Given the description of an element on the screen output the (x, y) to click on. 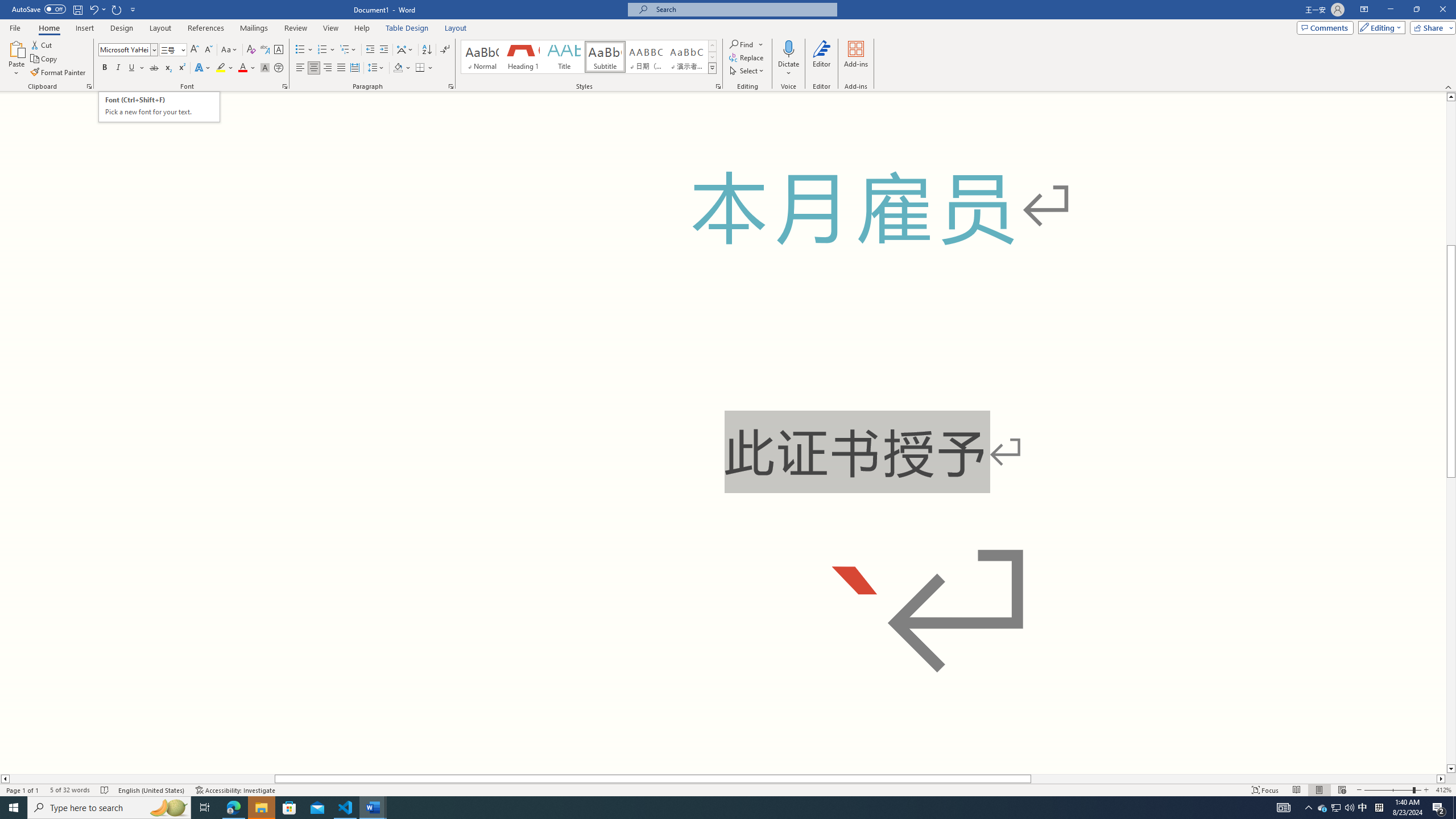
Font Color Red (241, 67)
Page left (142, 778)
